Given the description of an element on the screen output the (x, y) to click on. 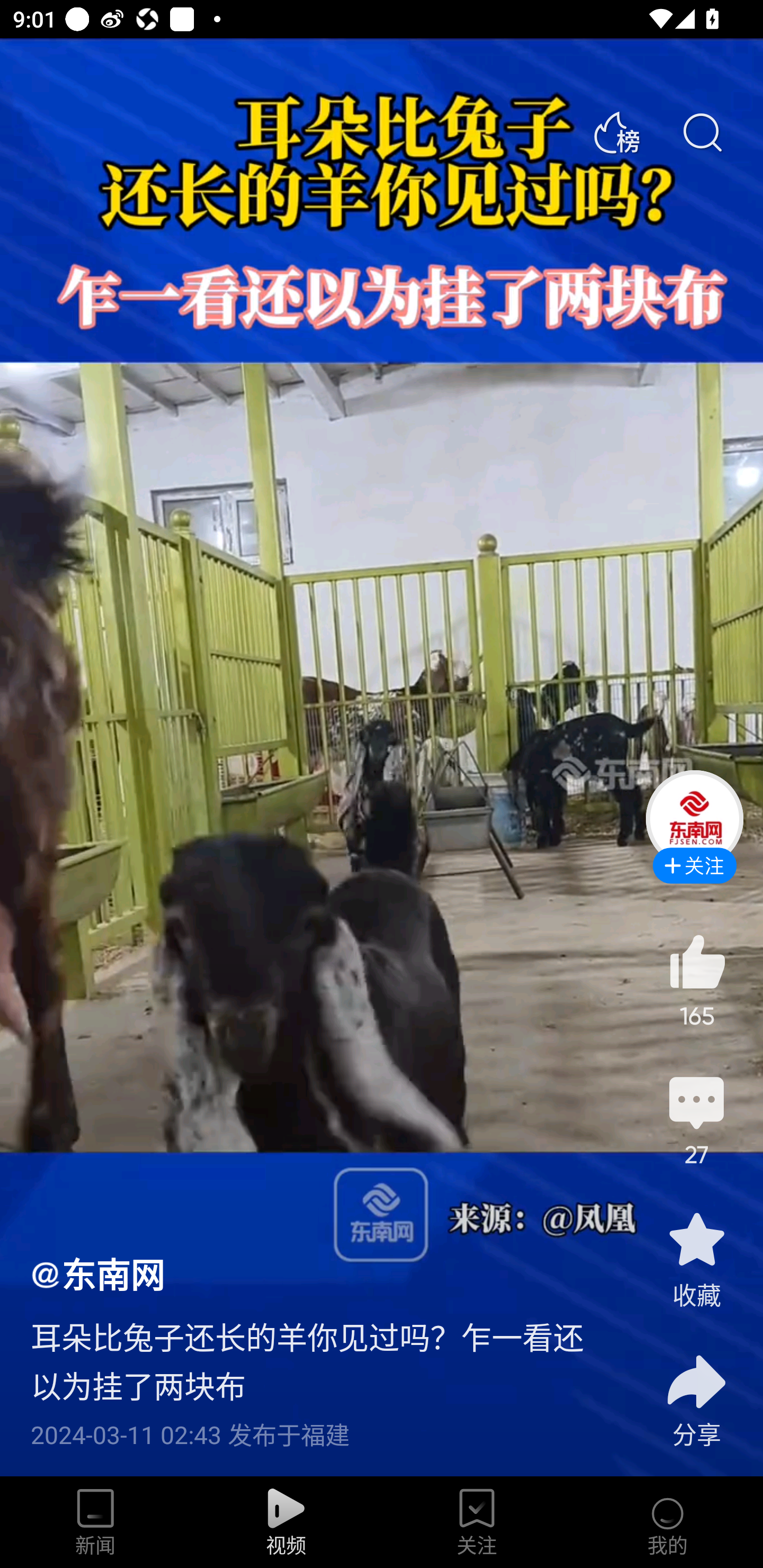
 热榜 (616, 133)
 搜索 (701, 133)
赞 165 (696, 979)
评论  27 (696, 1118)
收藏 (696, 1258)
东南网 (97, 1273)
耳朵比兔子还长的羊你见过吗？乍一看还以为挂了两块布 2024-03-11 02:43 发布于福建 (321, 1373)
分享  分享 (696, 1389)
